Given the description of an element on the screen output the (x, y) to click on. 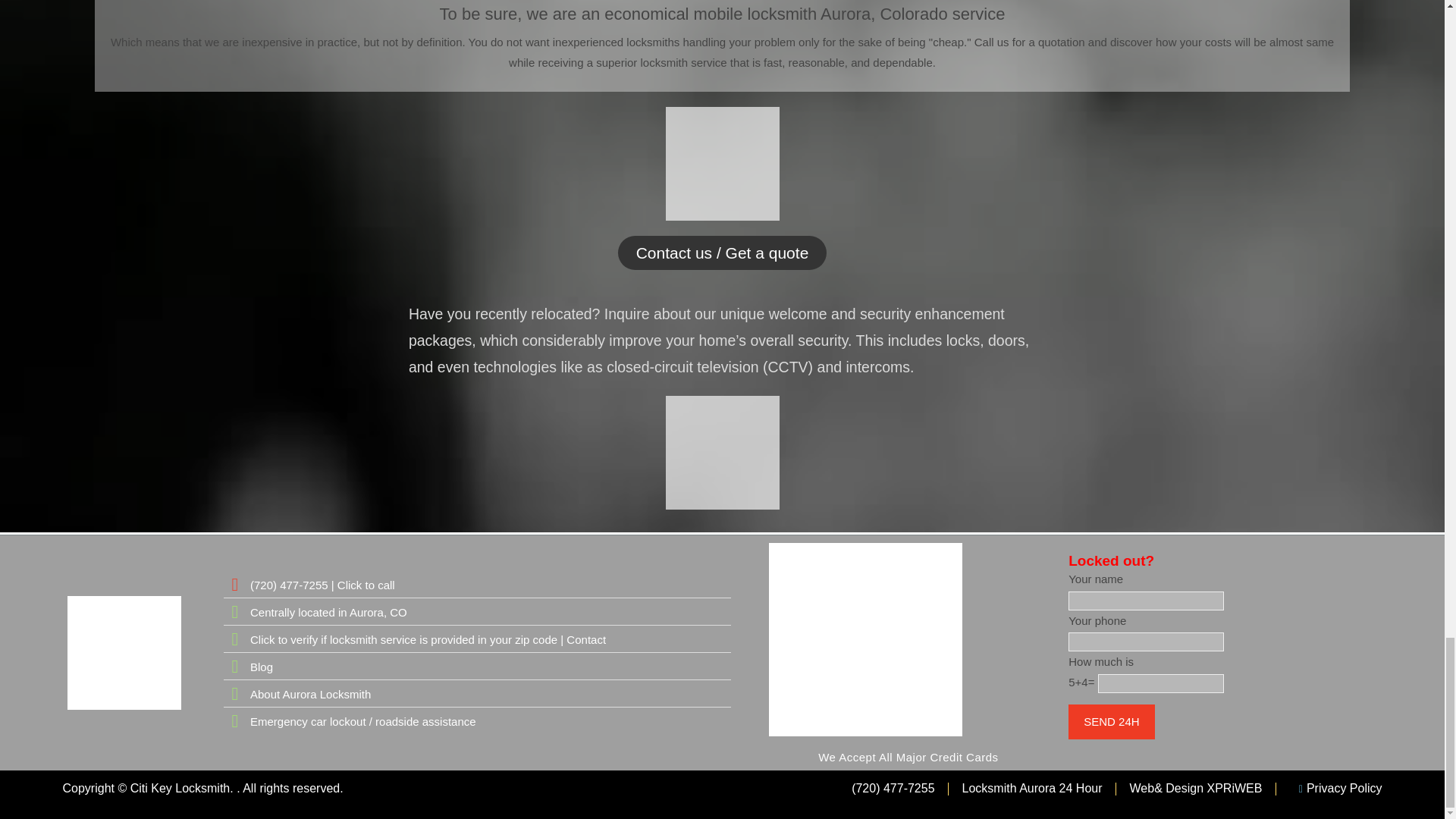
Blog (477, 666)
Privacy Policy (1334, 789)
SEND 24H (1111, 721)
SEND 24H (1111, 721)
About Aurora Locksmith (477, 693)
